Given the description of an element on the screen output the (x, y) to click on. 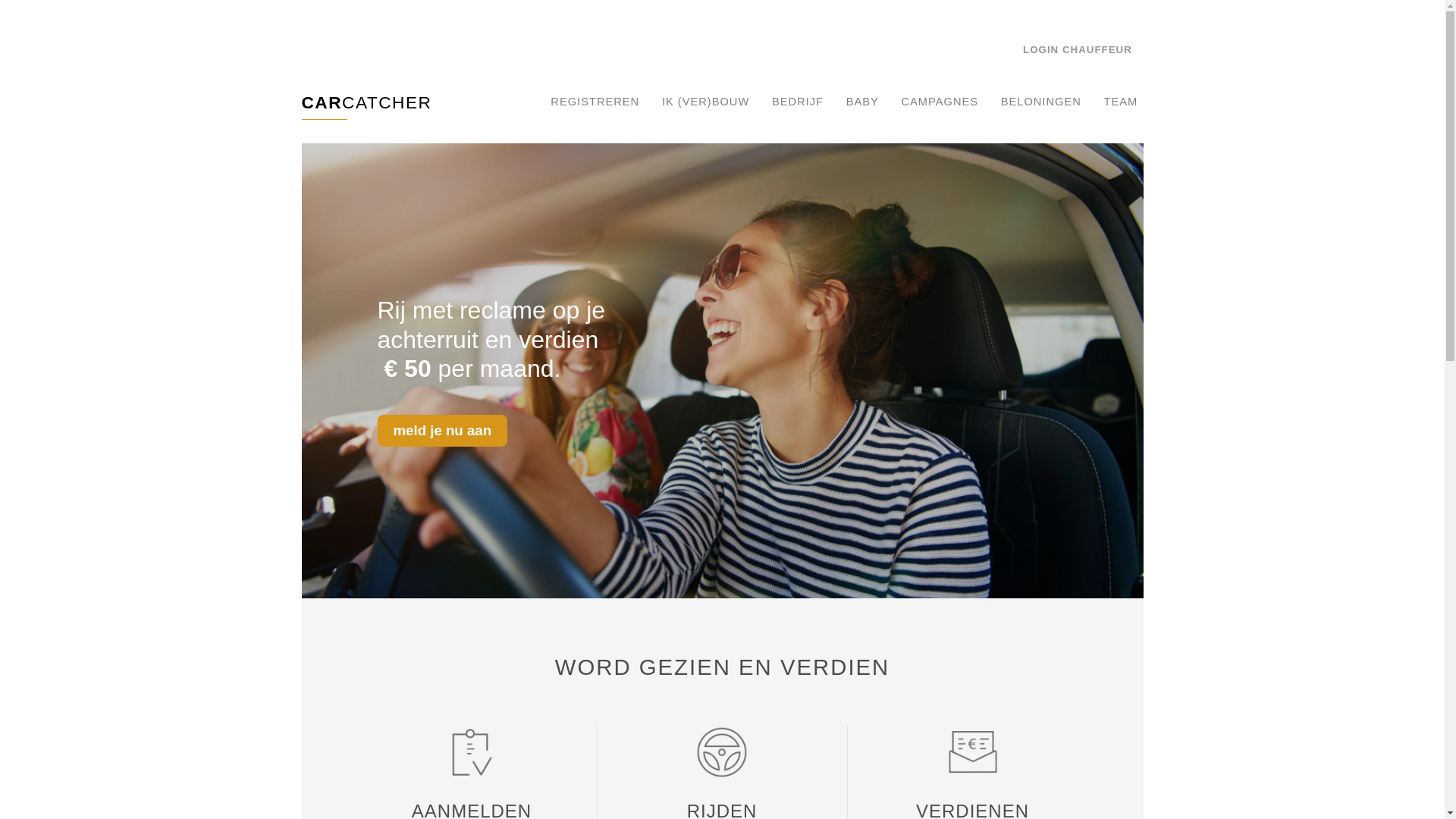
CAMPAGNES Element type: text (939, 101)
BELONINGEN Element type: text (1040, 101)
REGISTREREN Element type: text (595, 101)
meld je nu aan Element type: text (442, 429)
IK (VER)BOUW Element type: text (705, 101)
TEAM Element type: text (1120, 101)
CARCATCHER Element type: text (366, 103)
BEDRIJF Element type: text (797, 101)
BABY Element type: text (862, 101)
LOGIN CHAUFFEUR Element type: text (1077, 48)
